Given the description of an element on the screen output the (x, y) to click on. 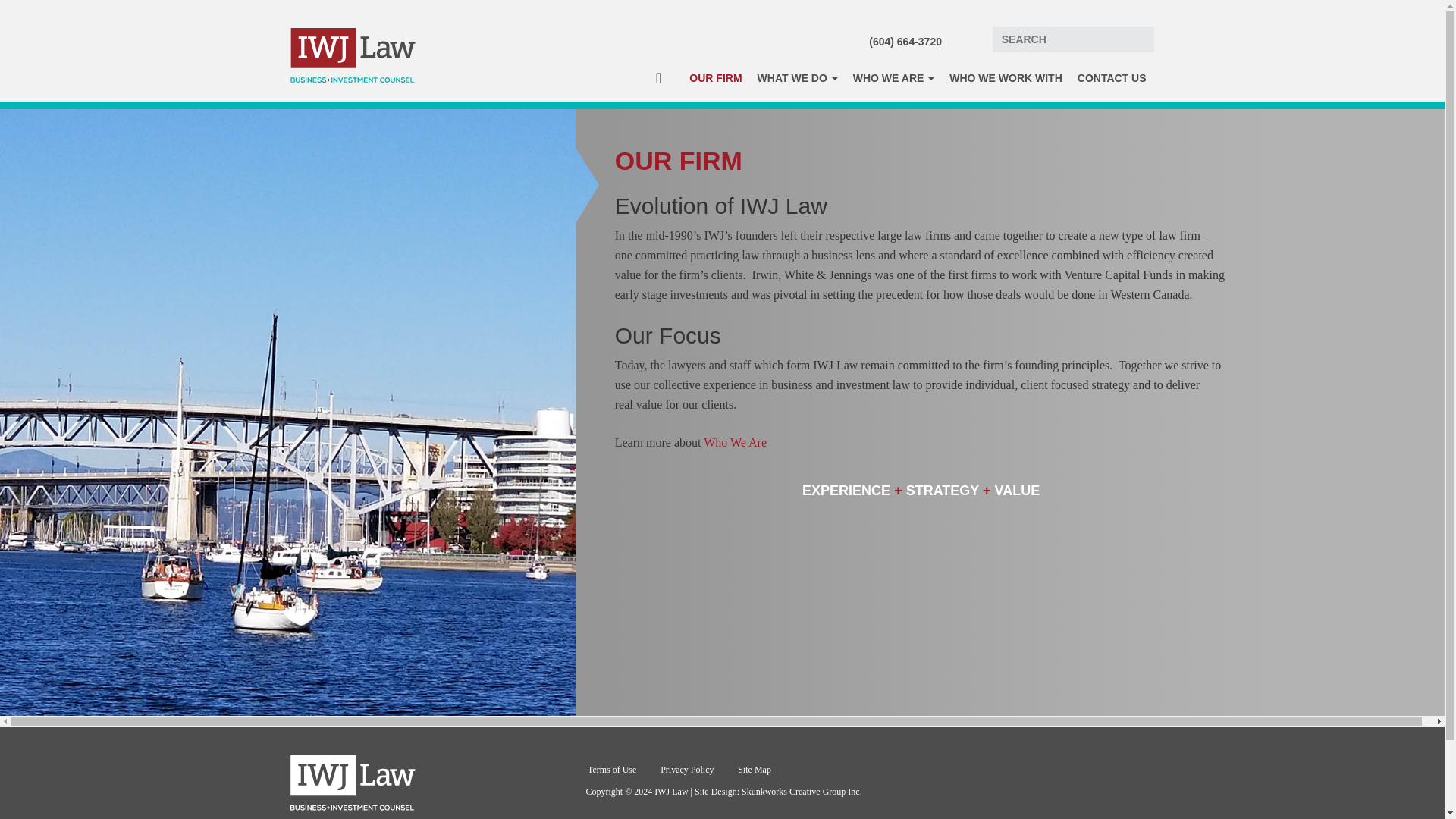
IWJ Law (351, 54)
WHAT WE DO (797, 81)
Privacy Policy (687, 769)
OUR FIRM (715, 81)
Terms of Use (611, 769)
CONTACT US (1112, 81)
WHO WE ARE (893, 81)
Site Map (754, 769)
WHO WE WORK WITH (1006, 81)
Who We Are (735, 441)
Skunkworks Creative Group Inc. (801, 791)
Search: (1073, 39)
